Given the description of an element on the screen output the (x, y) to click on. 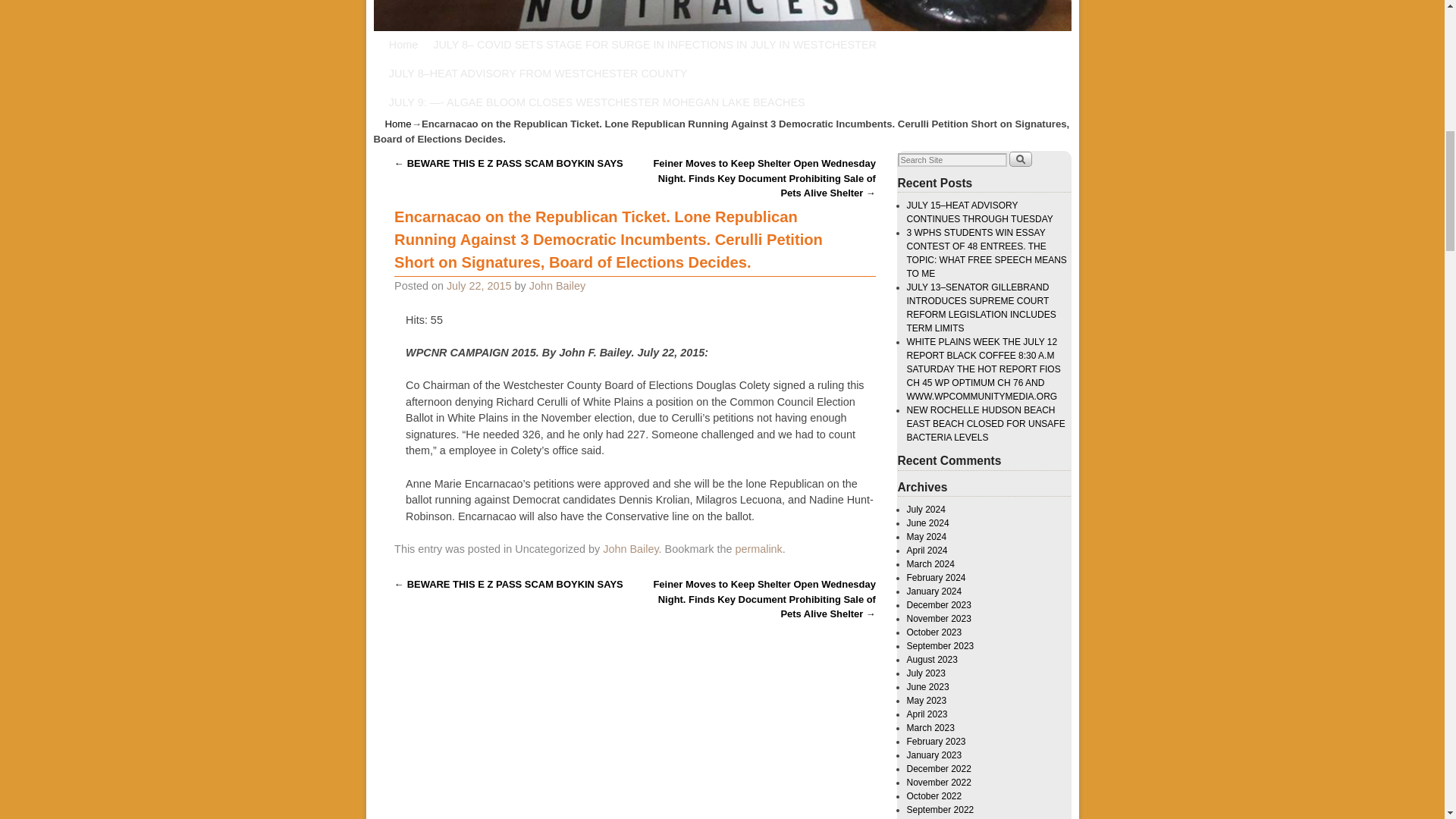
John Bailey (630, 548)
May 2024 (927, 536)
permalink (758, 548)
February 2024 (936, 577)
May 2023 (927, 700)
January 2024 (934, 591)
April 2023 (927, 714)
August 2023 (932, 659)
July 2023 (925, 673)
October 2023 (934, 632)
View all posts by John Bailey (557, 285)
June 2024 (928, 522)
November 2023 (939, 618)
Home (403, 44)
